Given the description of an element on the screen output the (x, y) to click on. 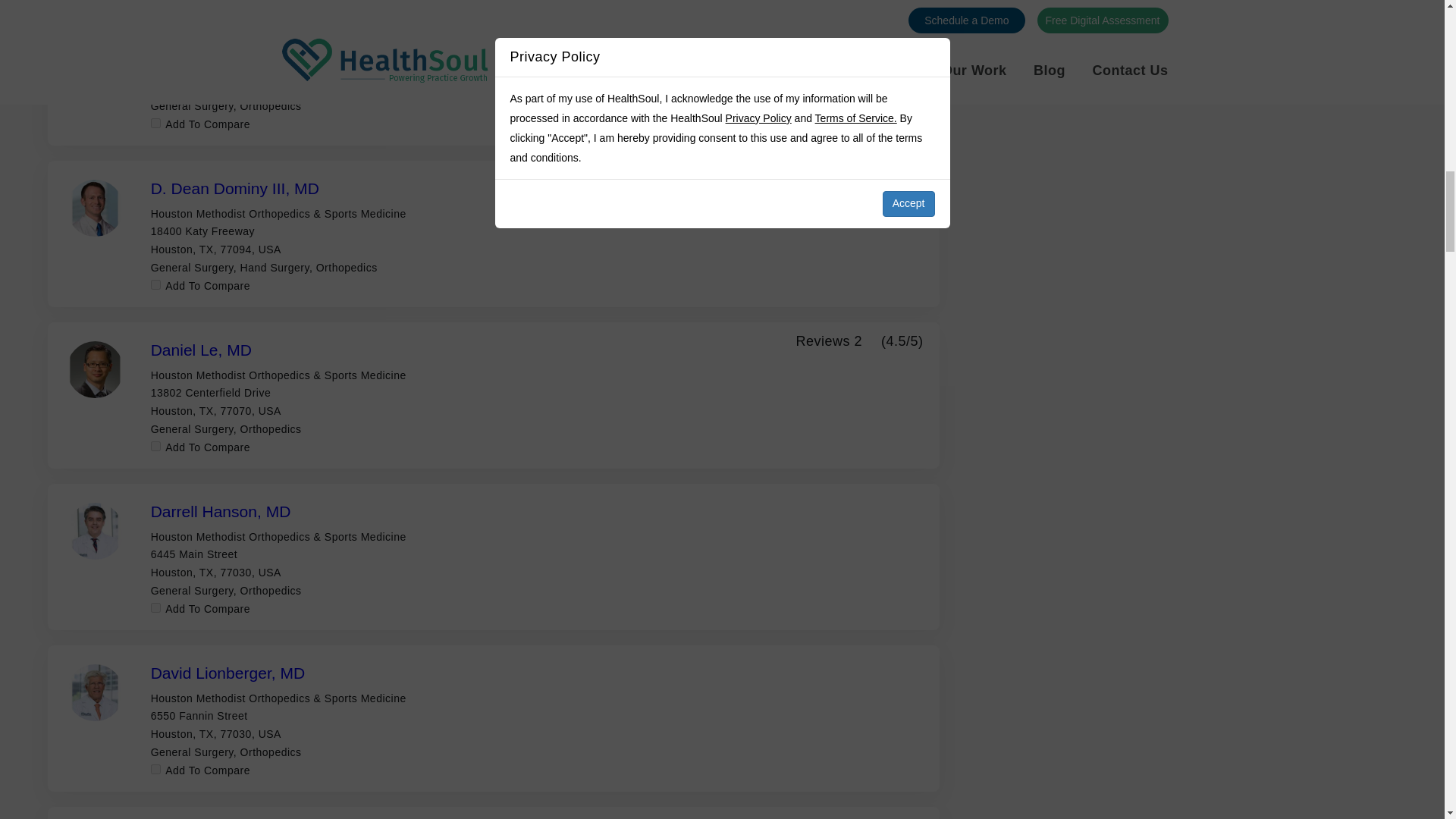
David Lionberger, MD (228, 672)
Darrell Hanson, MD (221, 511)
1653007 (155, 122)
D. Dean Dominy III, MD (234, 188)
Christopher Smith, MD (232, 27)
Darrell Hanson, MD (221, 511)
1653333 (155, 284)
1653495 (155, 607)
1653145 (155, 768)
Christopher Smith, MD (232, 27)
Daniel Le, MD (201, 349)
Daniel Le, MD (201, 349)
David Lionberger, MD (228, 672)
1653004 (155, 446)
D. Dean Dominy III, MD (234, 188)
